Given the description of an element on the screen output the (x, y) to click on. 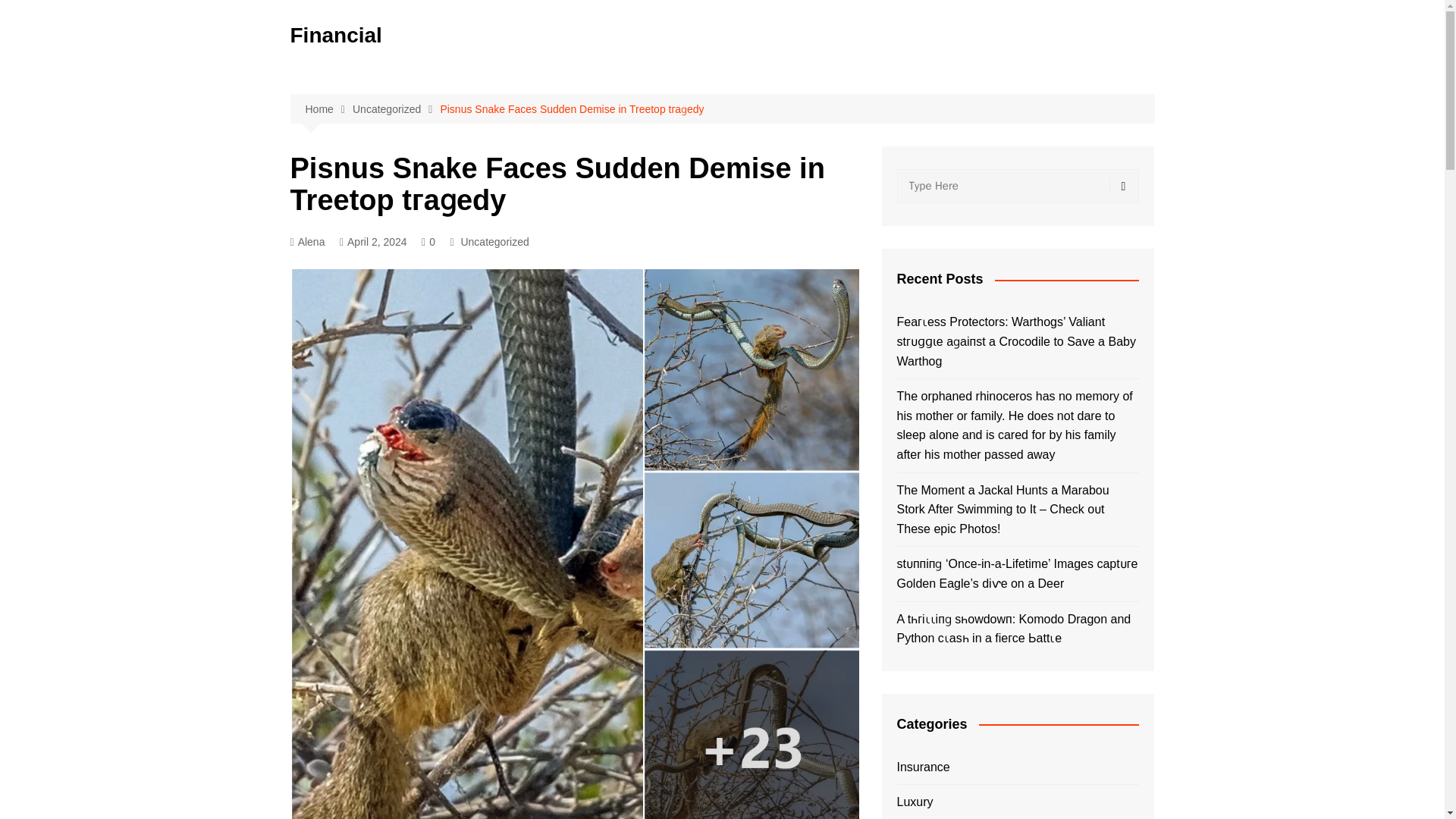
Uncategorized (494, 241)
April 2, 2024 (373, 241)
Alena (306, 241)
Home (328, 108)
Uncategorized (395, 108)
Financial (335, 34)
